Given the description of an element on the screen output the (x, y) to click on. 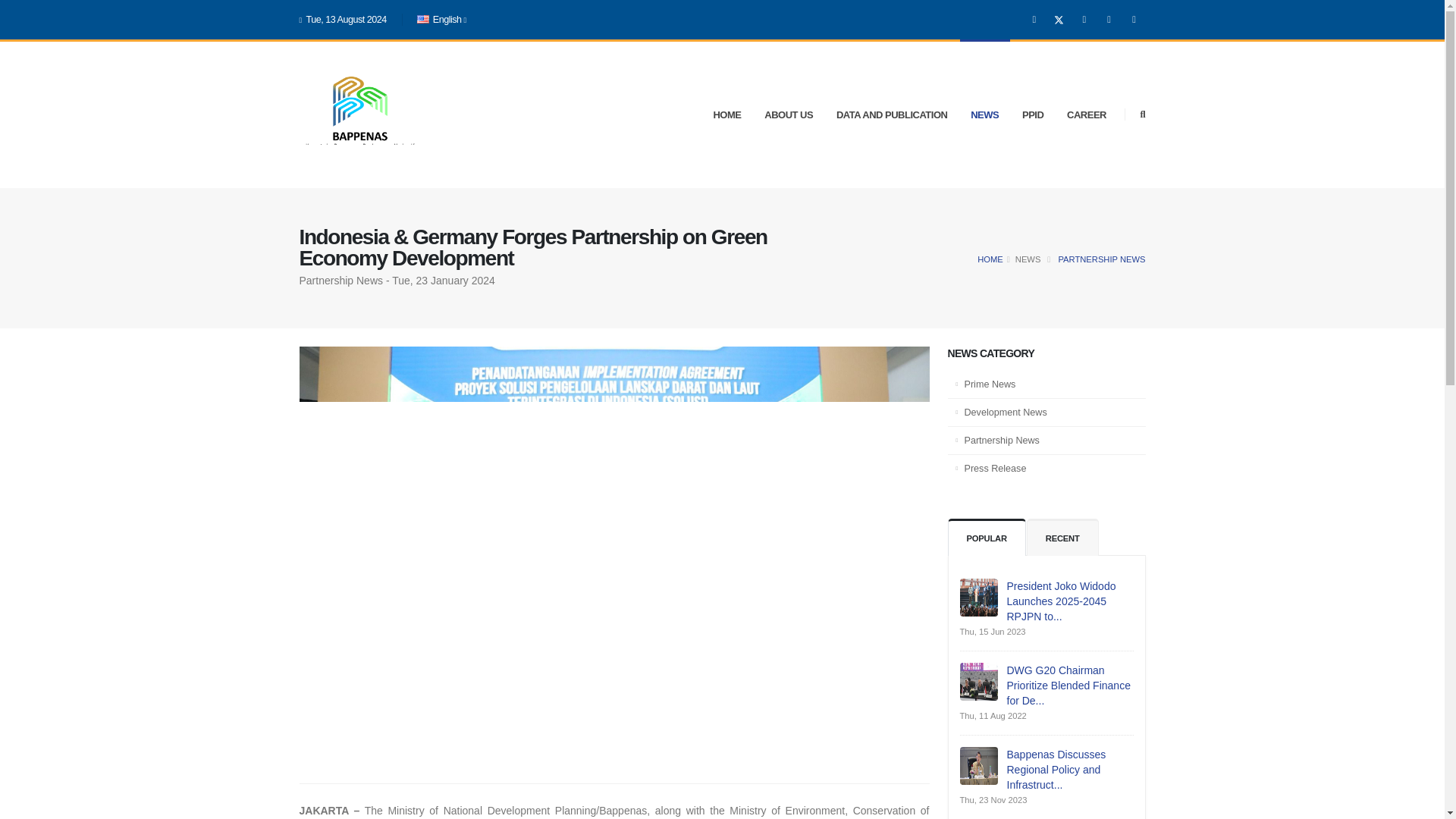
English (442, 19)
Partnership News (1046, 440)
tiktok (1134, 19)
Development News (1046, 412)
instagram (1084, 19)
Twitter (1059, 19)
DATA AND PUBLICATION (891, 115)
PARTNERSHIP NEWS (1099, 258)
Prime News (1046, 384)
Press Release (1046, 468)
